Given the description of an element on the screen output the (x, y) to click on. 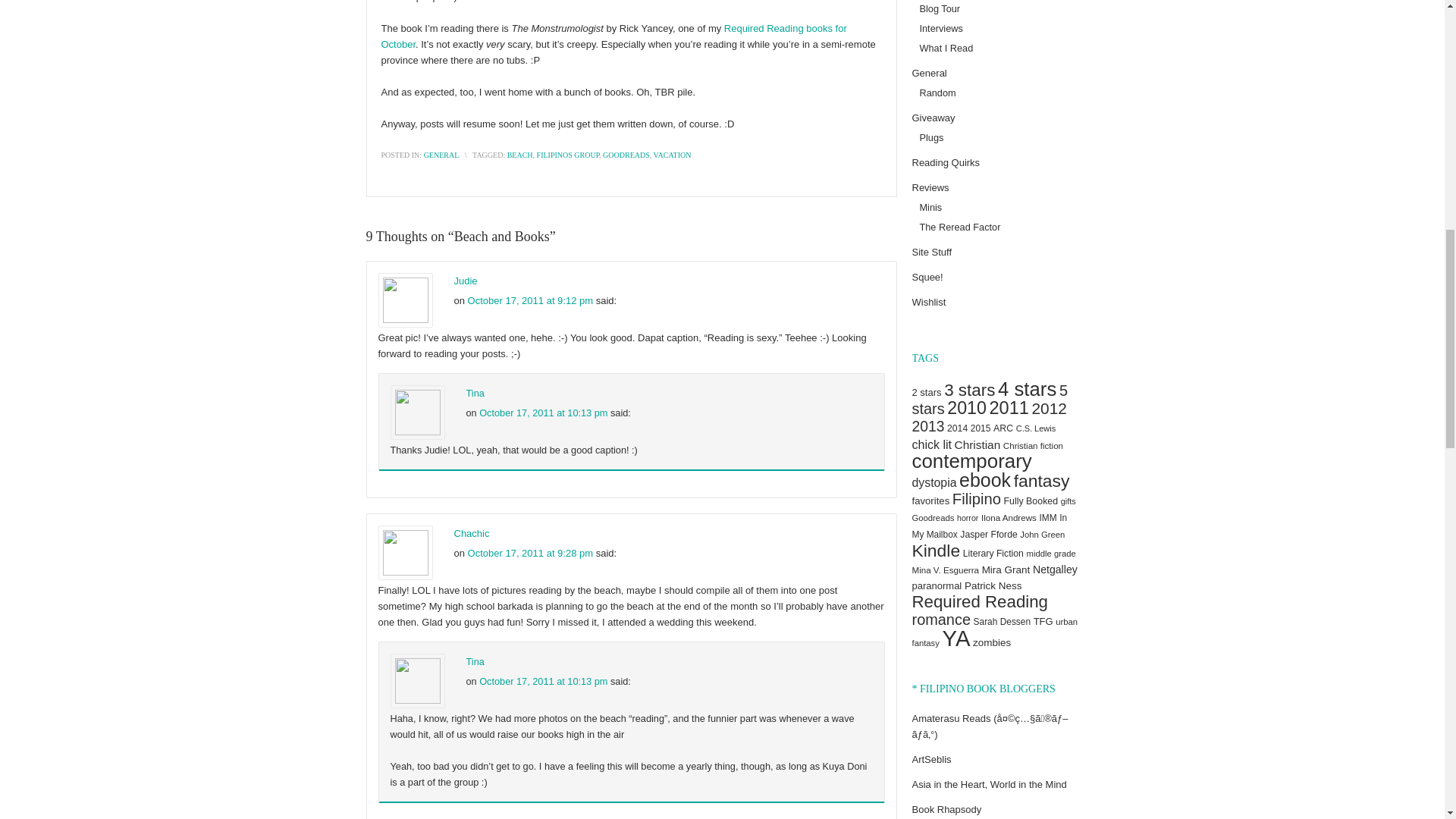
Judie (464, 280)
October 17, 2011 at 10:13 pm (543, 681)
October 17, 2011 at 9:12 pm (530, 300)
Tina (474, 392)
VACATION (672, 154)
FILIPINOS GROUP (568, 154)
GENERAL (441, 154)
GOODREADS (625, 154)
October 17, 2011 at 10:13 pm (543, 412)
Tina (474, 661)
